Given the description of an element on the screen output the (x, y) to click on. 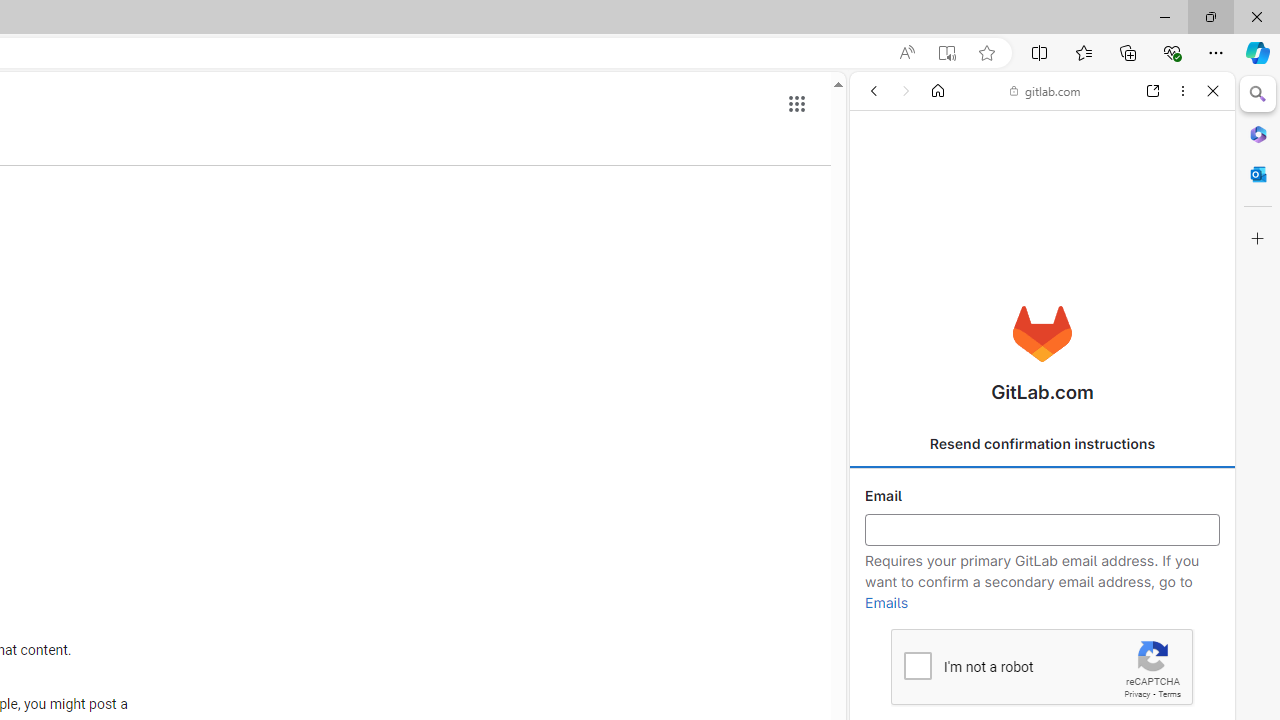
About GitLab (1042, 592)
Login (1042, 494)
GitLab.com (1042, 333)
I'm not a robot (916, 664)
ALL   (881, 228)
Email (1042, 530)
